Given the description of an element on the screen output the (x, y) to click on. 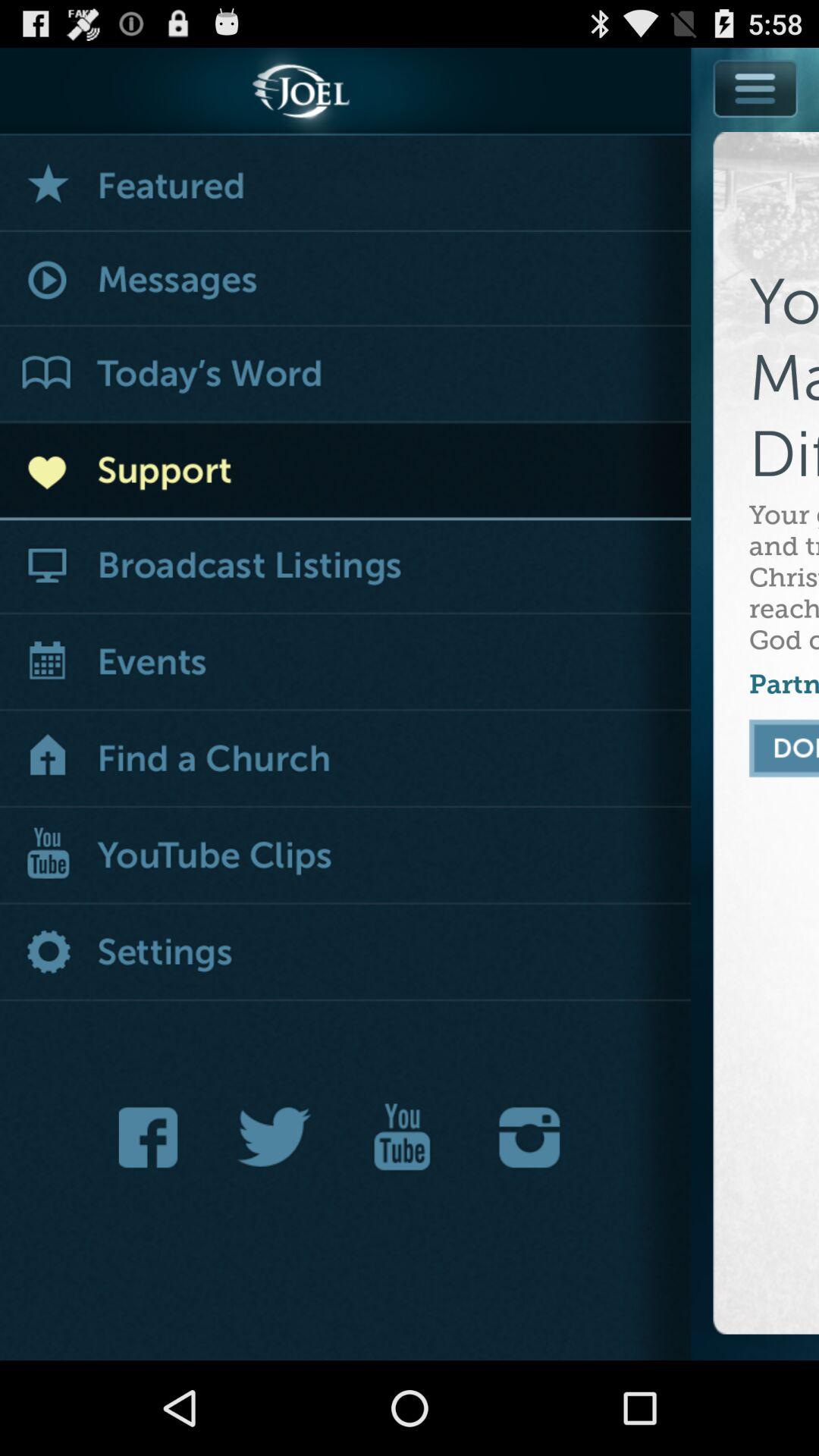
open settings (345, 953)
